Given the description of an element on the screen output the (x, y) to click on. 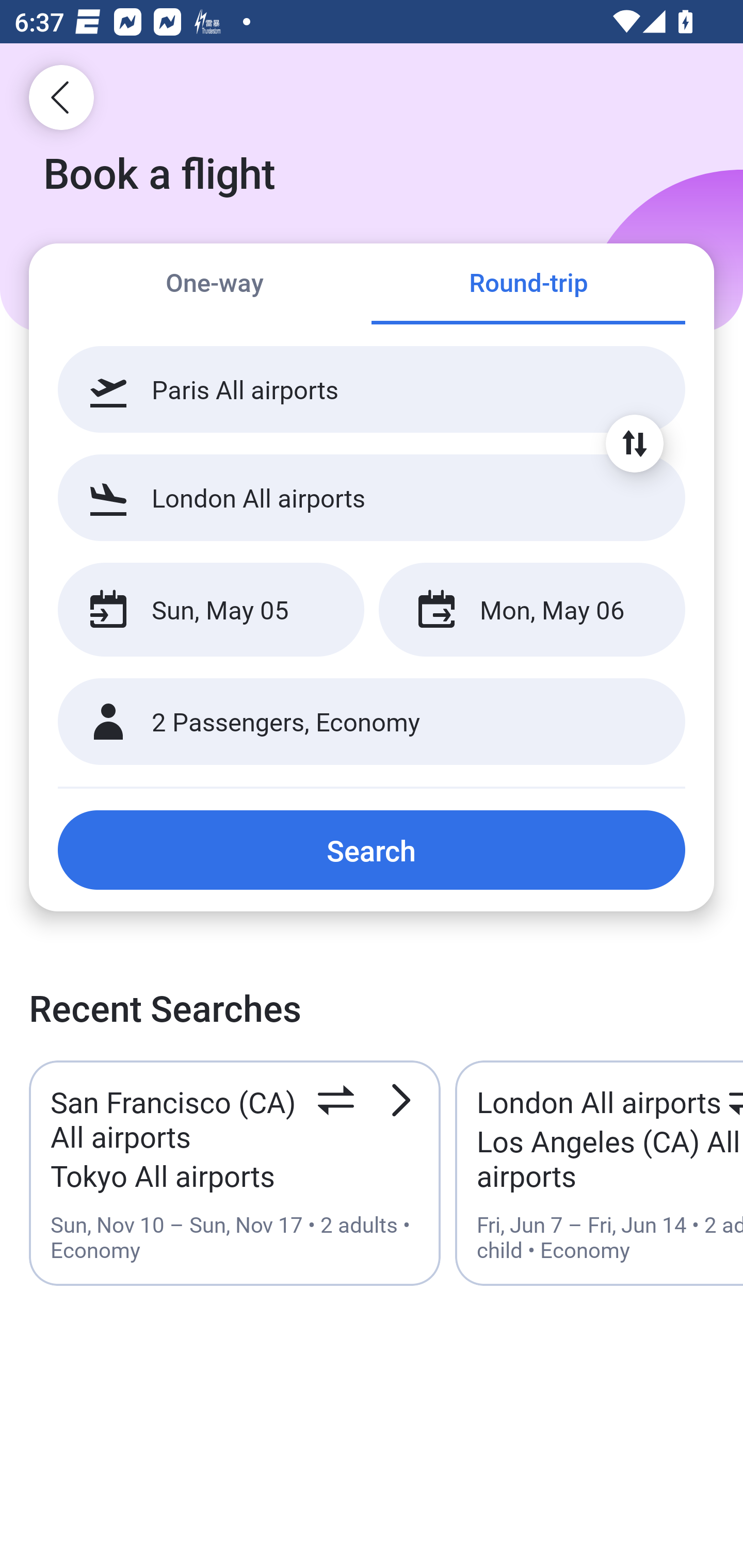
One-way (214, 284)
Paris All airports (371, 389)
London All airports (371, 497)
Sun, May 05 (210, 609)
Mon, May 06 (531, 609)
2 Passengers, Economy (371, 721)
Search (371, 849)
